Given the description of an element on the screen output the (x, y) to click on. 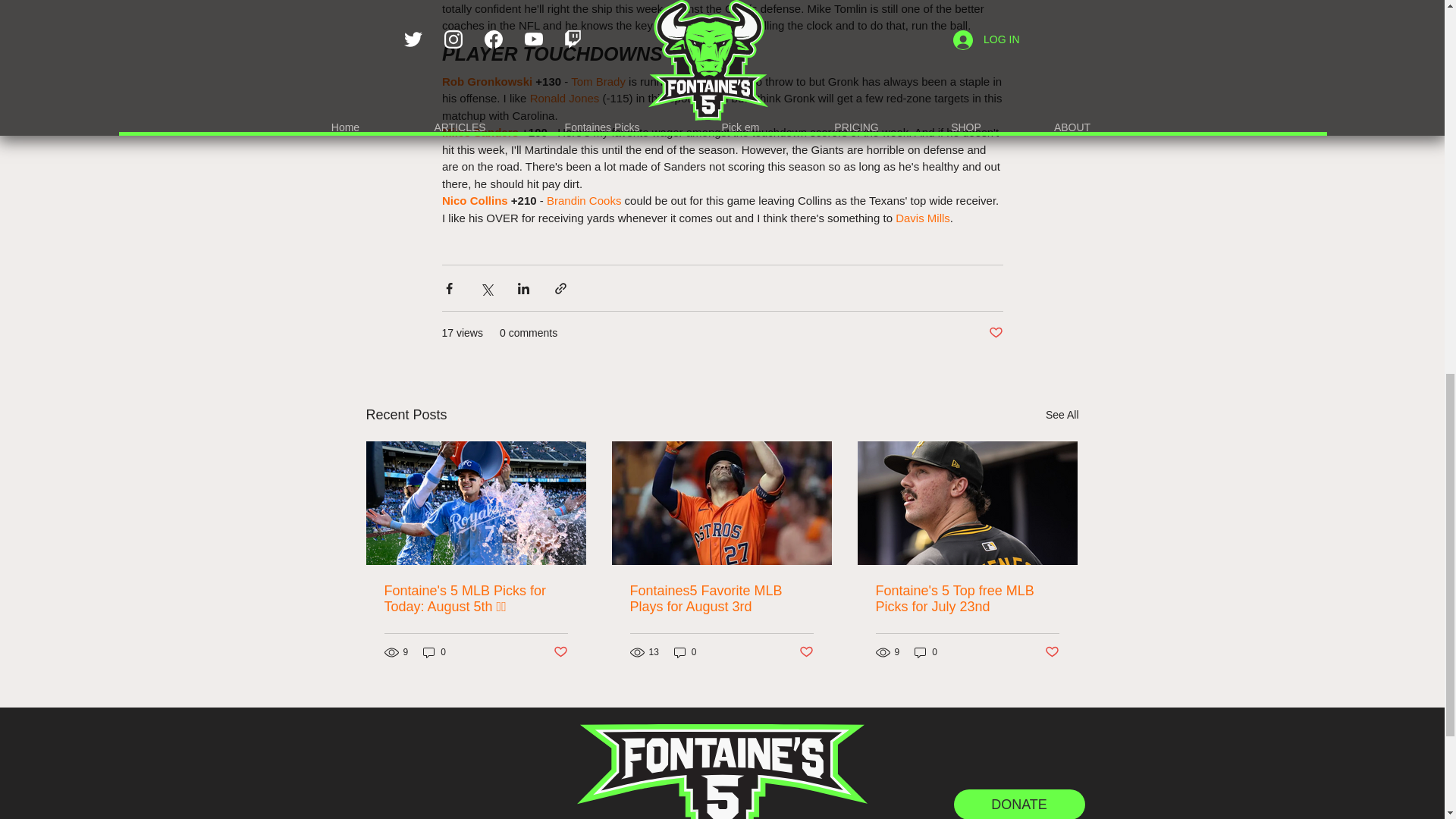
Ronald Jones (563, 97)
Rob Gronkowski (486, 80)
Tom Brady (598, 80)
Miles Sanders (479, 132)
Brandin Cooks (583, 200)
Nico Collins (473, 200)
